Given the description of an element on the screen output the (x, y) to click on. 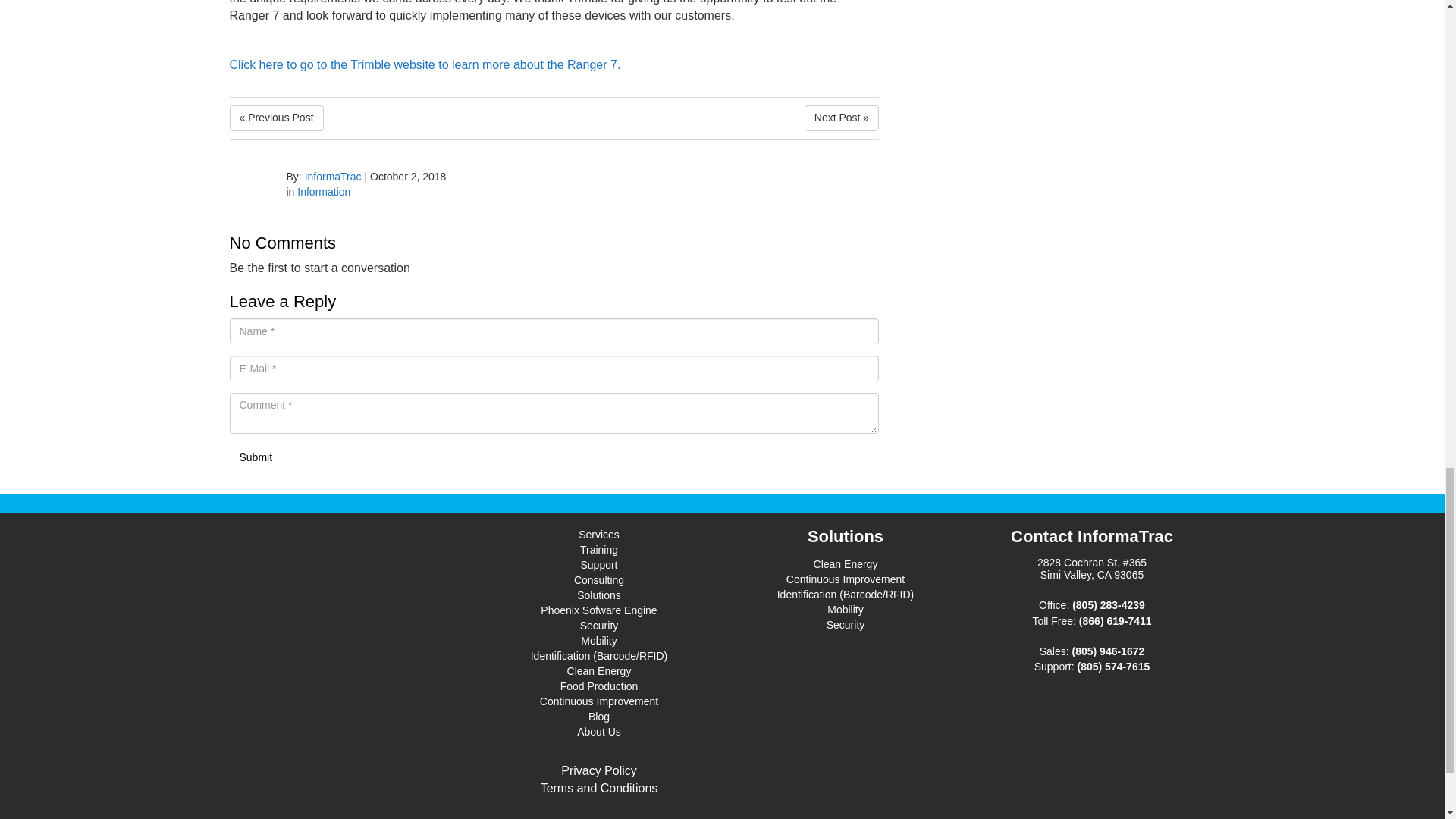
InformaTrac (332, 176)
InformaTrac at RFID Journal Live 2019 (842, 118)
Loss Prevention with RFID (275, 118)
Submit (255, 457)
